Given the description of an element on the screen output the (x, y) to click on. 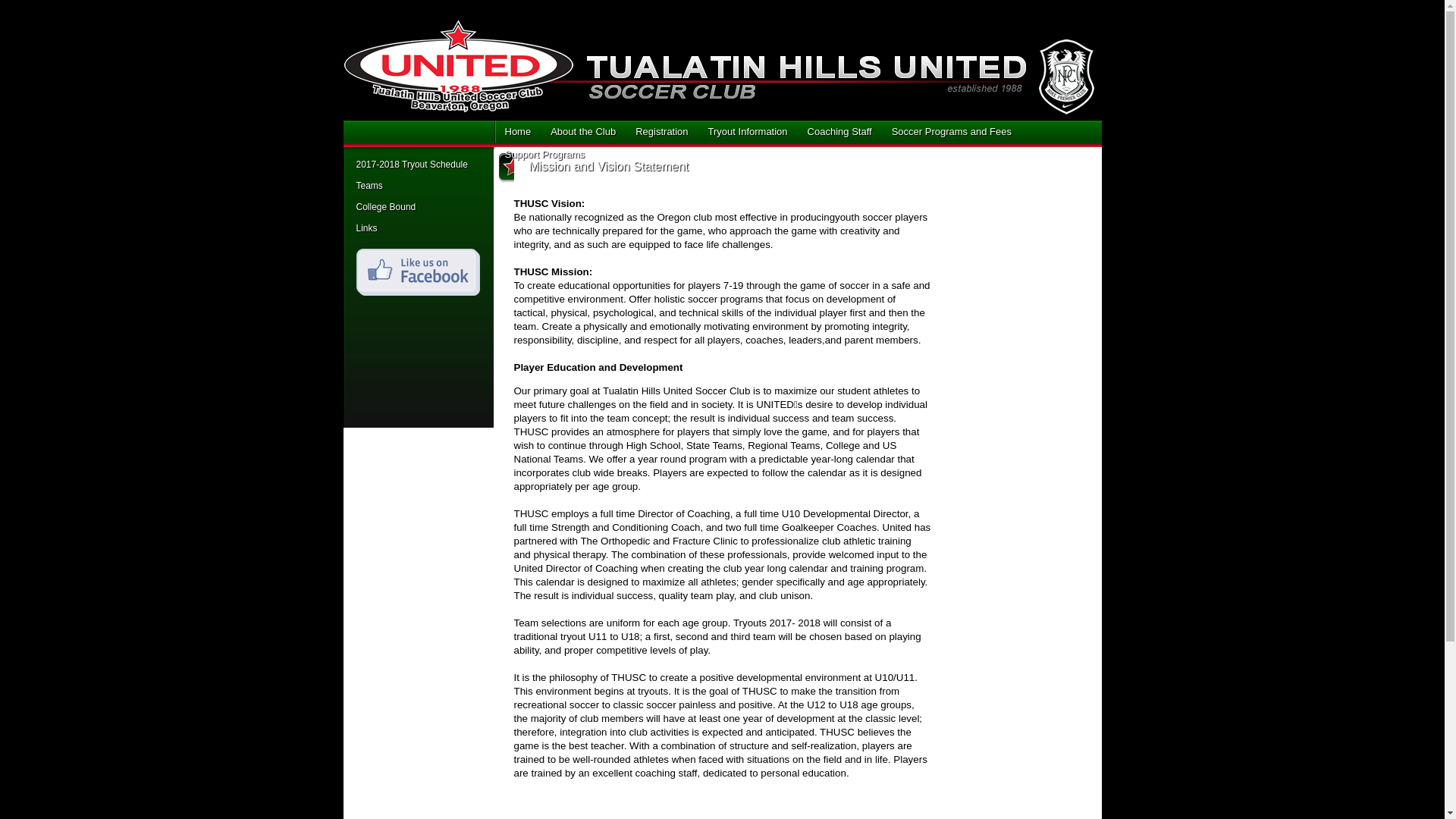
Tryout Information (742, 131)
Coaching Staff (834, 131)
Member Login (418, 130)
About the Club (578, 131)
Support Programs (540, 154)
Registration (656, 131)
Soccer Programs and Fees (946, 131)
Home (513, 131)
